Given the description of an element on the screen output the (x, y) to click on. 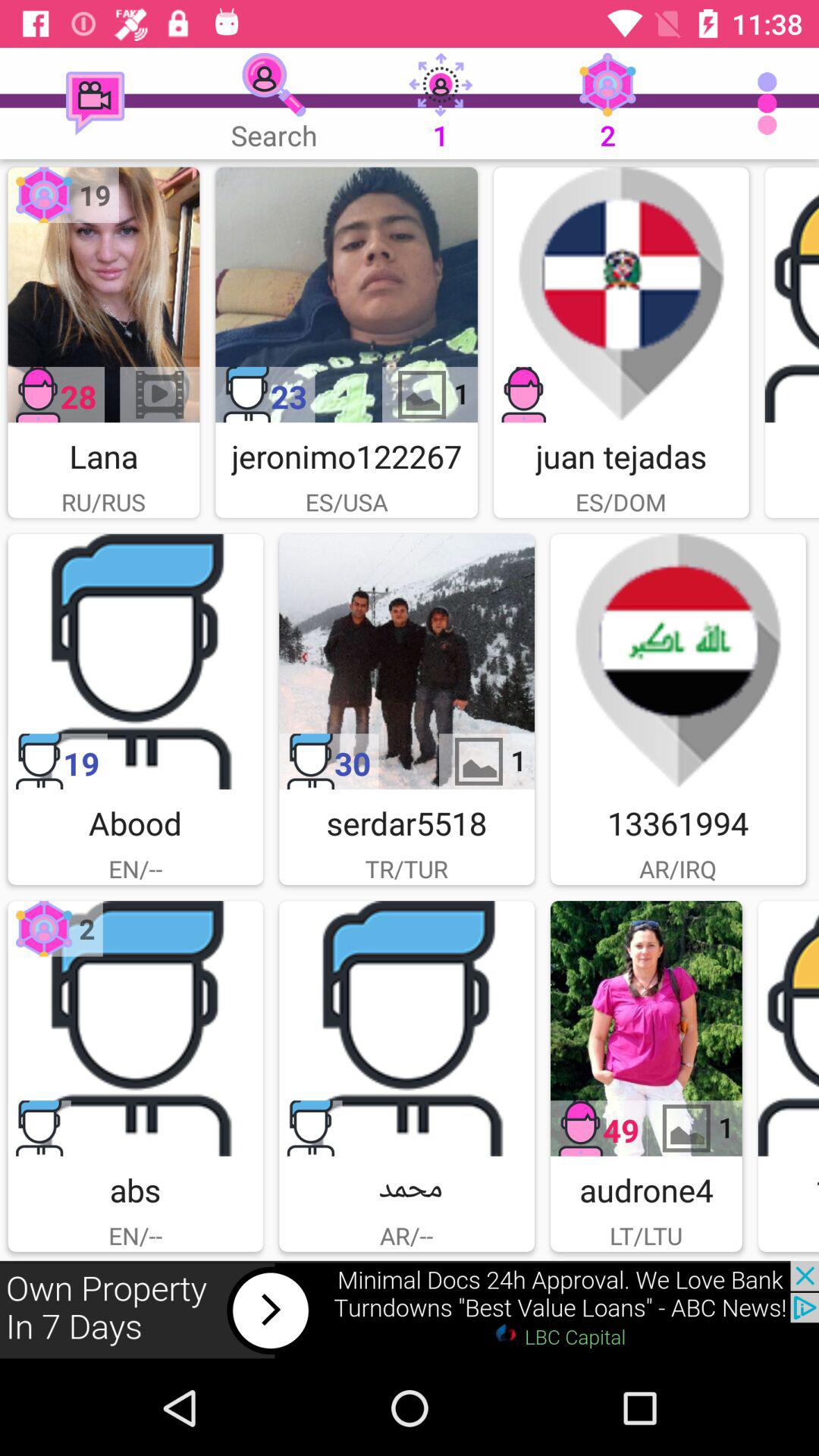
click audrone4 (646, 1028)
